Given the description of an element on the screen output the (x, y) to click on. 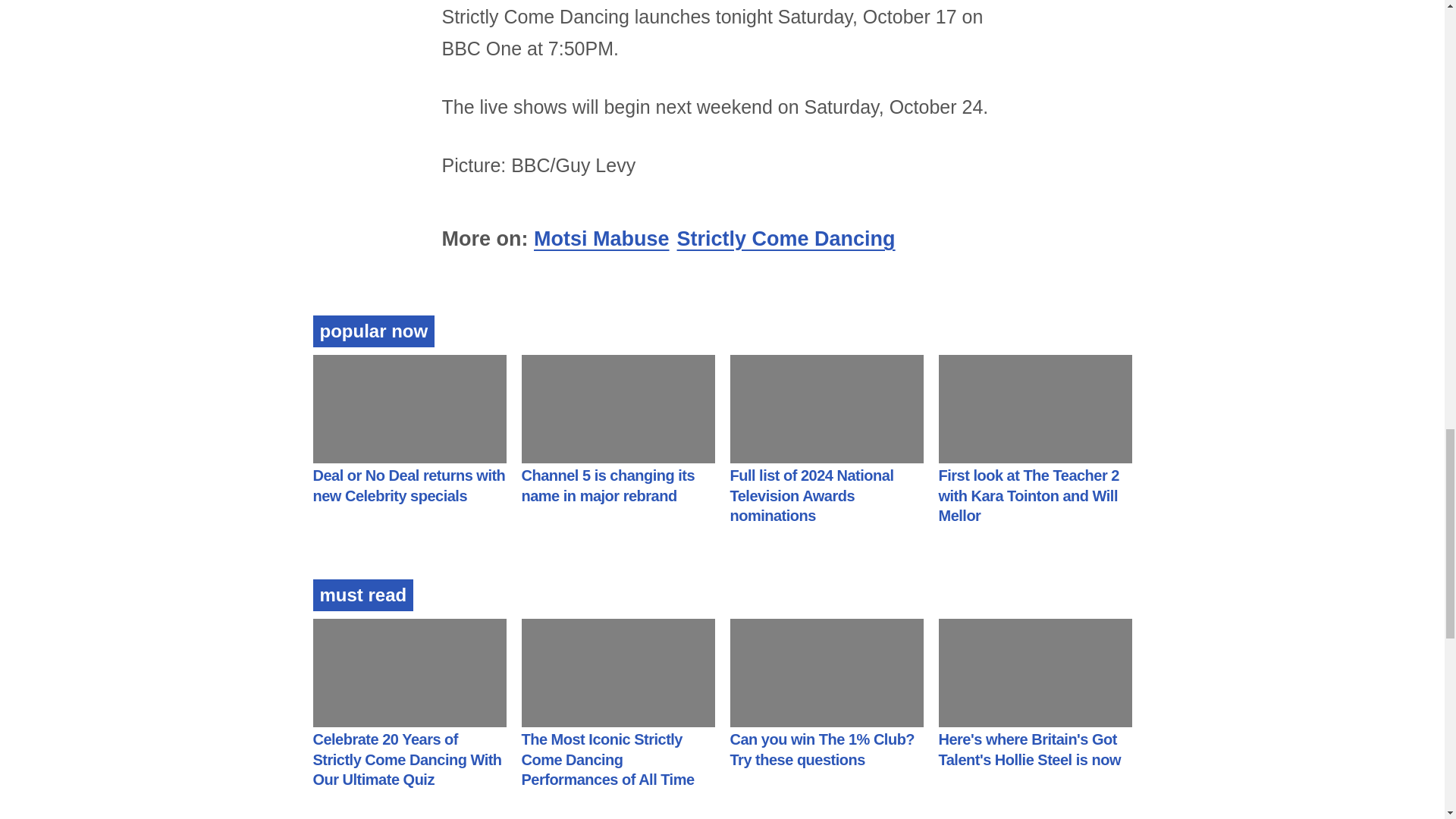
Strictly Come Dancing (786, 238)
Motsi Mabuse (601, 238)
Deal or No Deal returns with new Celebrity specials (409, 485)
Channel 5 is changing its name in major rebrand (608, 485)
Full list of 2024 National Television Awards nominations (811, 495)
